Given the description of an element on the screen output the (x, y) to click on. 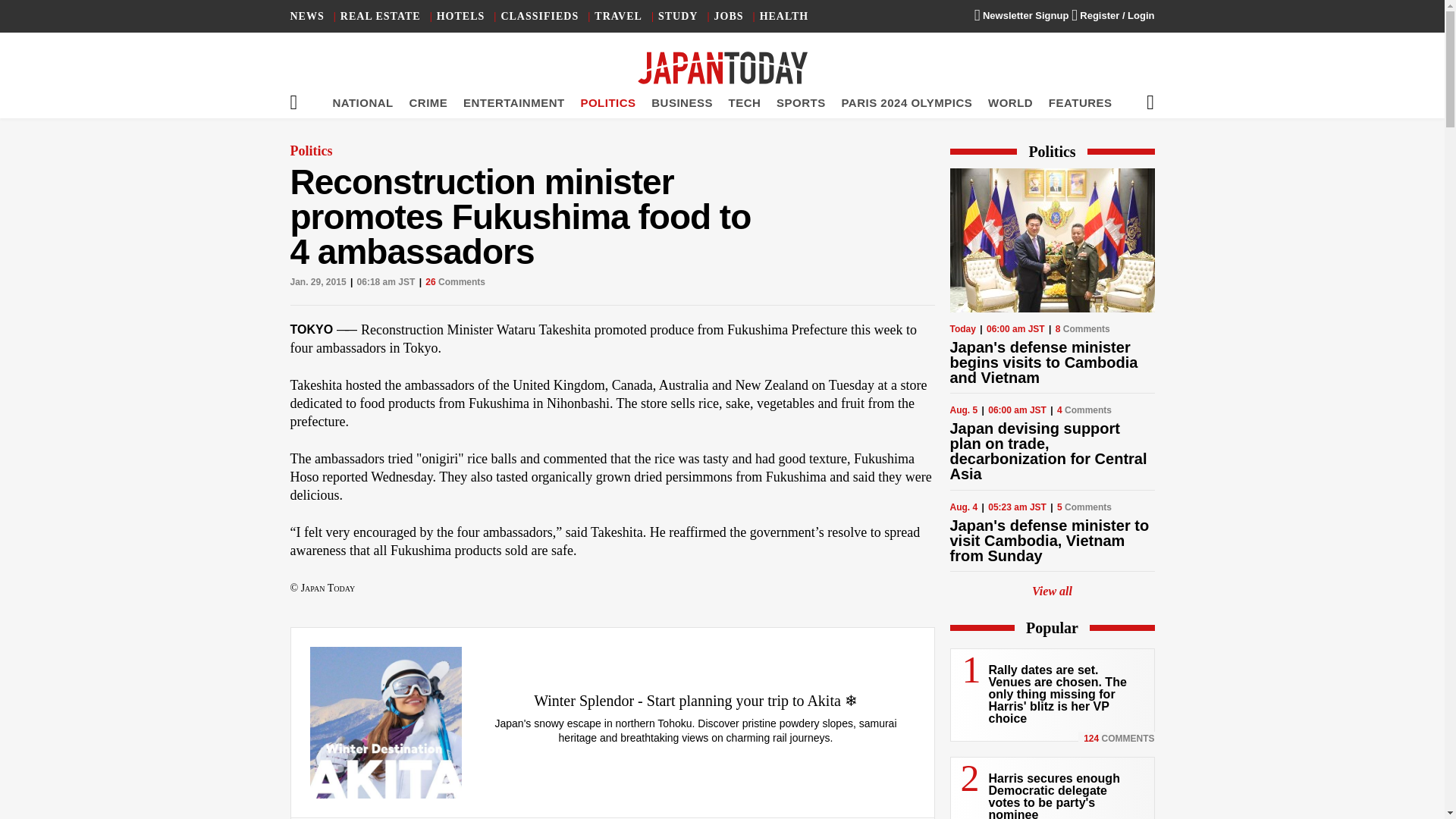
TRAVEL (618, 16)
STUDY (677, 16)
SPORTS (800, 102)
REAL ESTATE (380, 16)
Japan Today (721, 67)
WORLD (1010, 102)
NEWS (306, 16)
BUSINESS (681, 102)
HEALTH (784, 16)
TECH (745, 102)
Newsletter Signup (1021, 15)
HOTELS (460, 16)
